Given the description of an element on the screen output the (x, y) to click on. 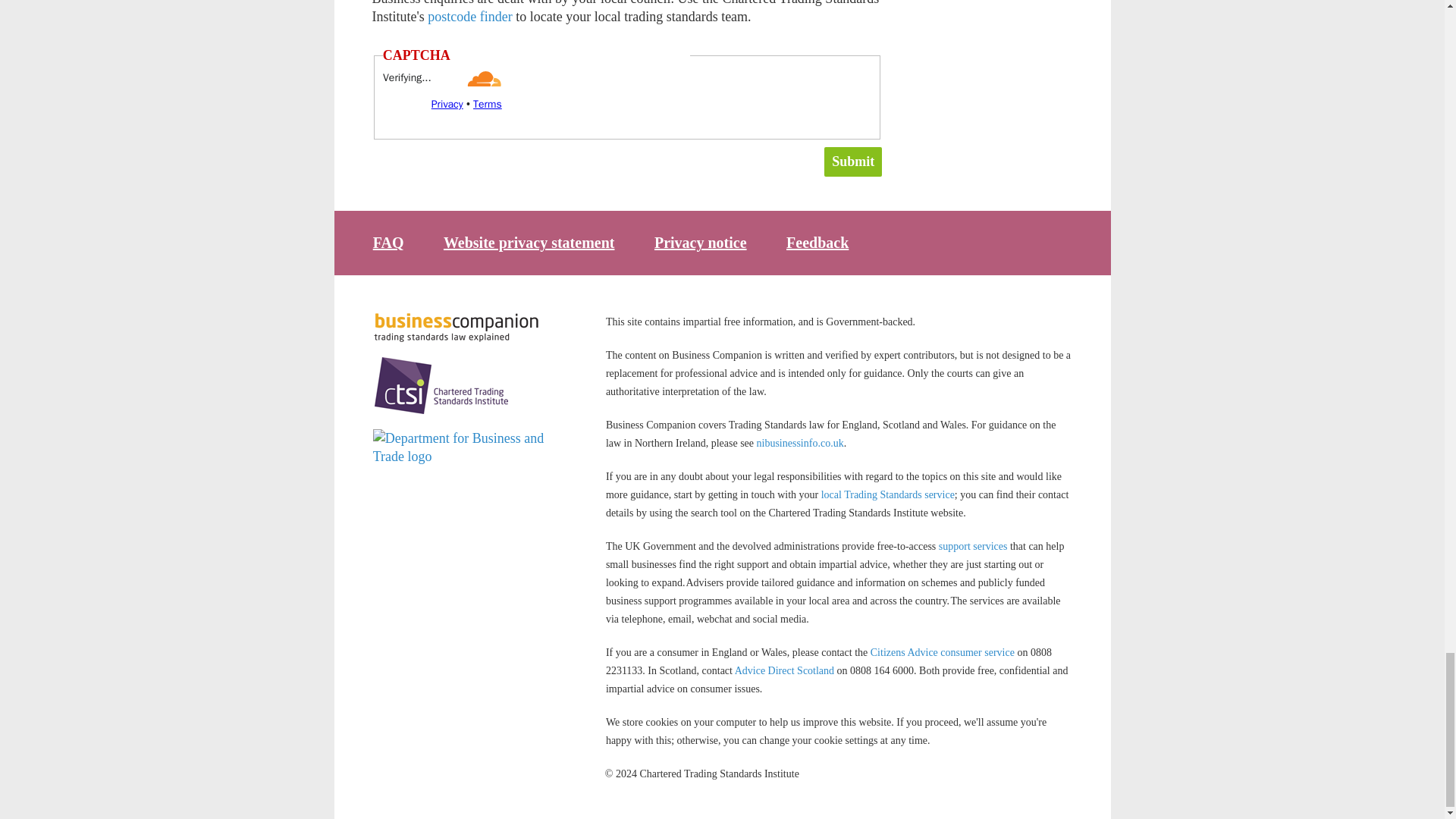
FAQ (388, 242)
Privacy notice (699, 242)
Submit (853, 161)
Feedback (817, 242)
Website privacy statement (529, 242)
Department for Business and Trade (459, 447)
